Given the description of an element on the screen output the (x, y) to click on. 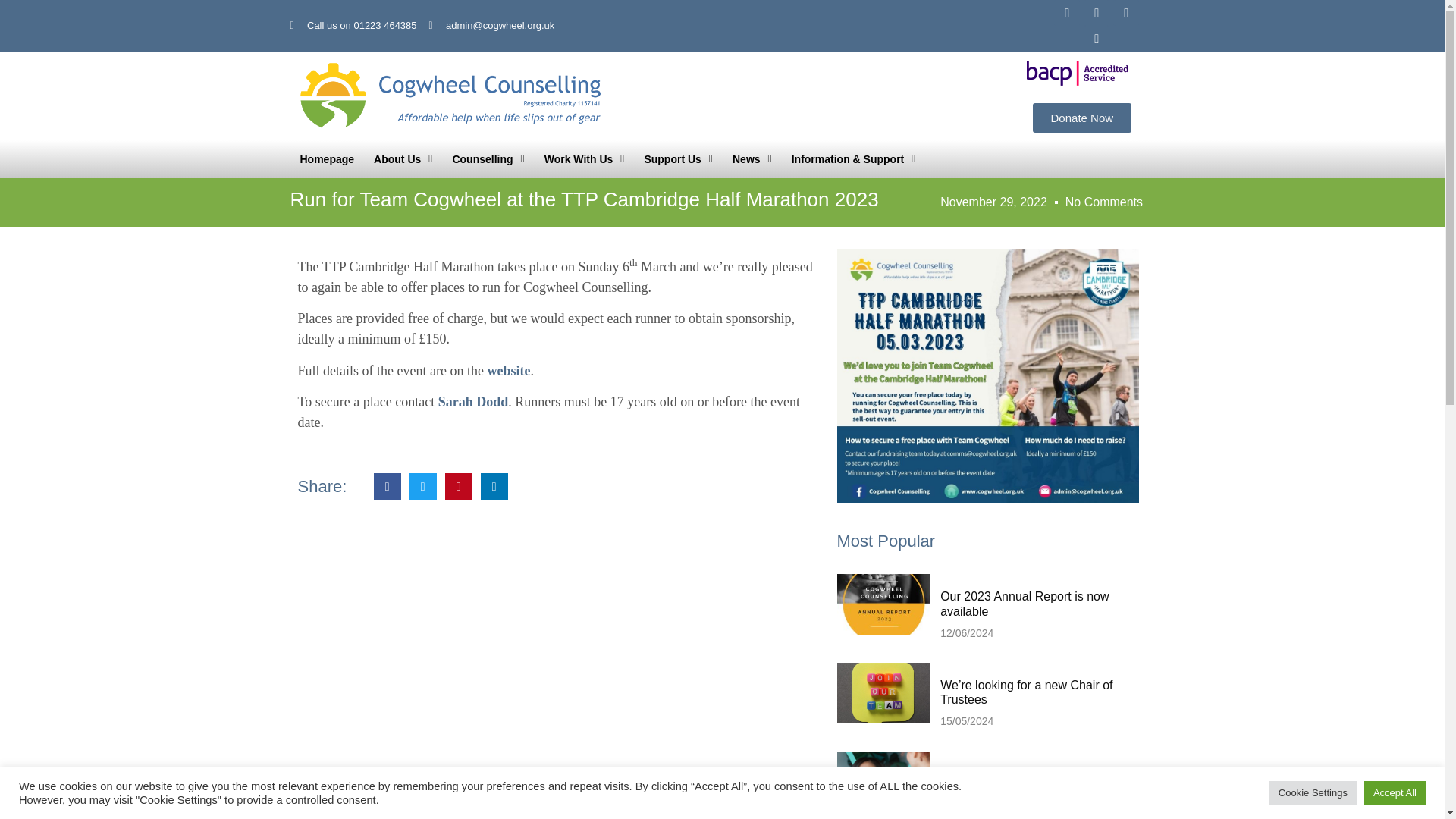
Donate Now (1082, 117)
Call us on 01223 464385 (352, 25)
